Given the description of an element on the screen output the (x, y) to click on. 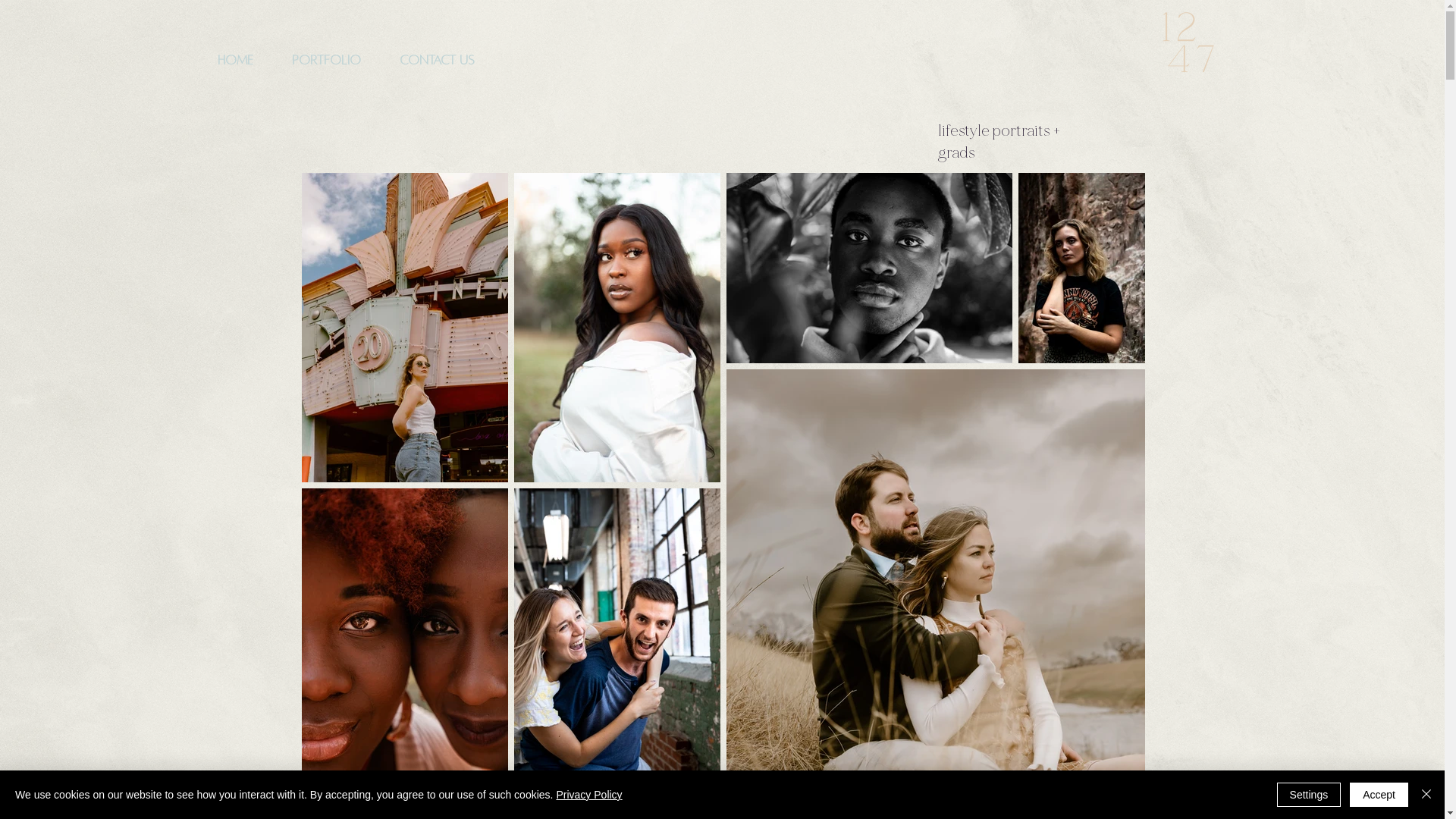
contact us Element type: text (437, 60)
portfolio Element type: text (326, 60)
Settings Element type: text (1309, 794)
Privacy Policy Element type: text (588, 794)
home Element type: text (235, 60)
Accept Element type: text (1378, 794)
